Given the description of an element on the screen output the (x, y) to click on. 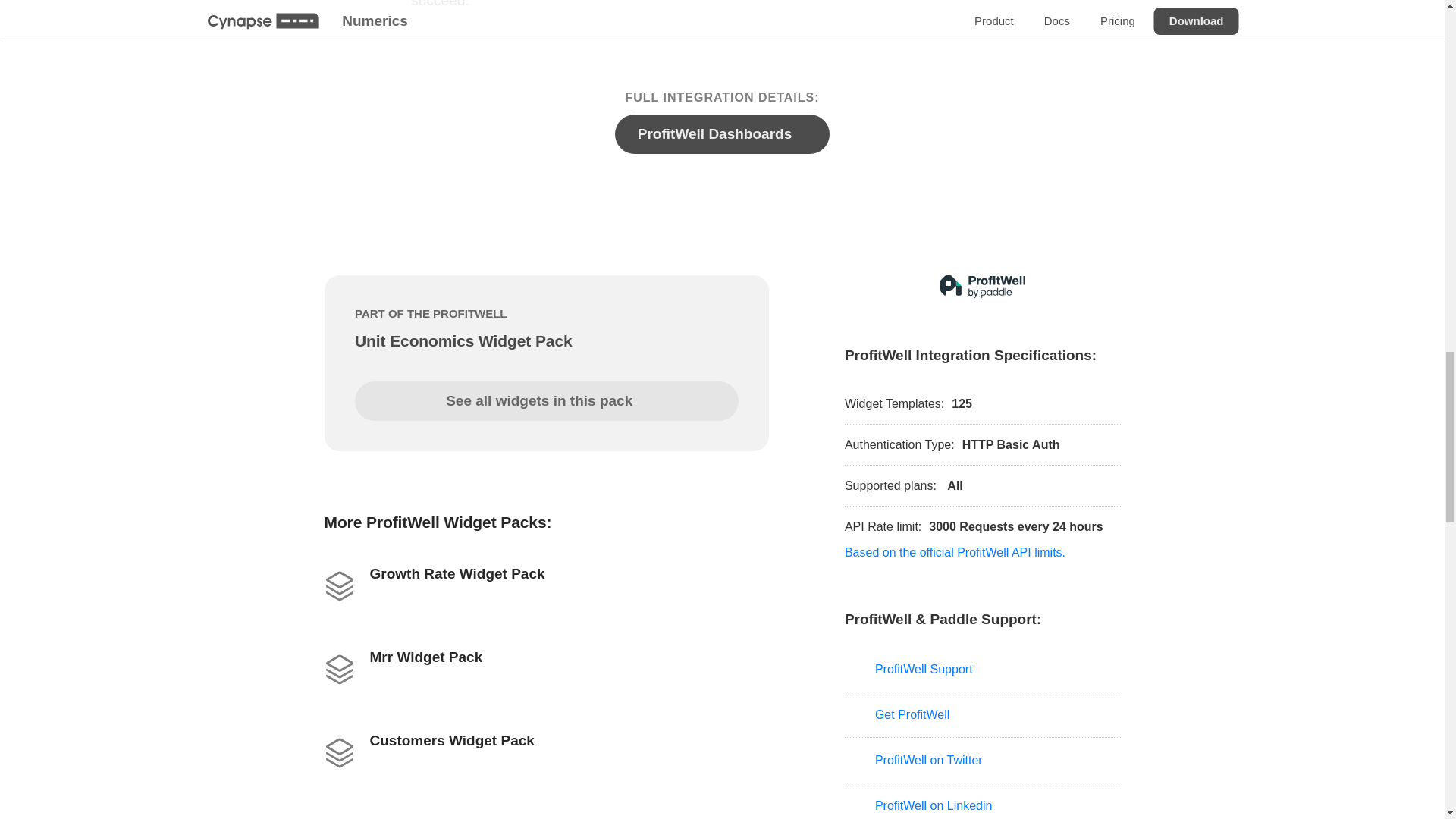
ProfitWell Dashboards (721, 133)
Growth Rate Widget Pack (546, 582)
ProfitWell on Linkedin (982, 800)
Based on the official ProfitWell API limits. (954, 552)
ProfitWell on Twitter (982, 759)
Get ProfitWell (982, 714)
ProfitWell Support (982, 669)
See all widgets in this pack (546, 400)
Mrr Widget Pack (546, 665)
Customers Widget Pack (546, 749)
